Given the description of an element on the screen output the (x, y) to click on. 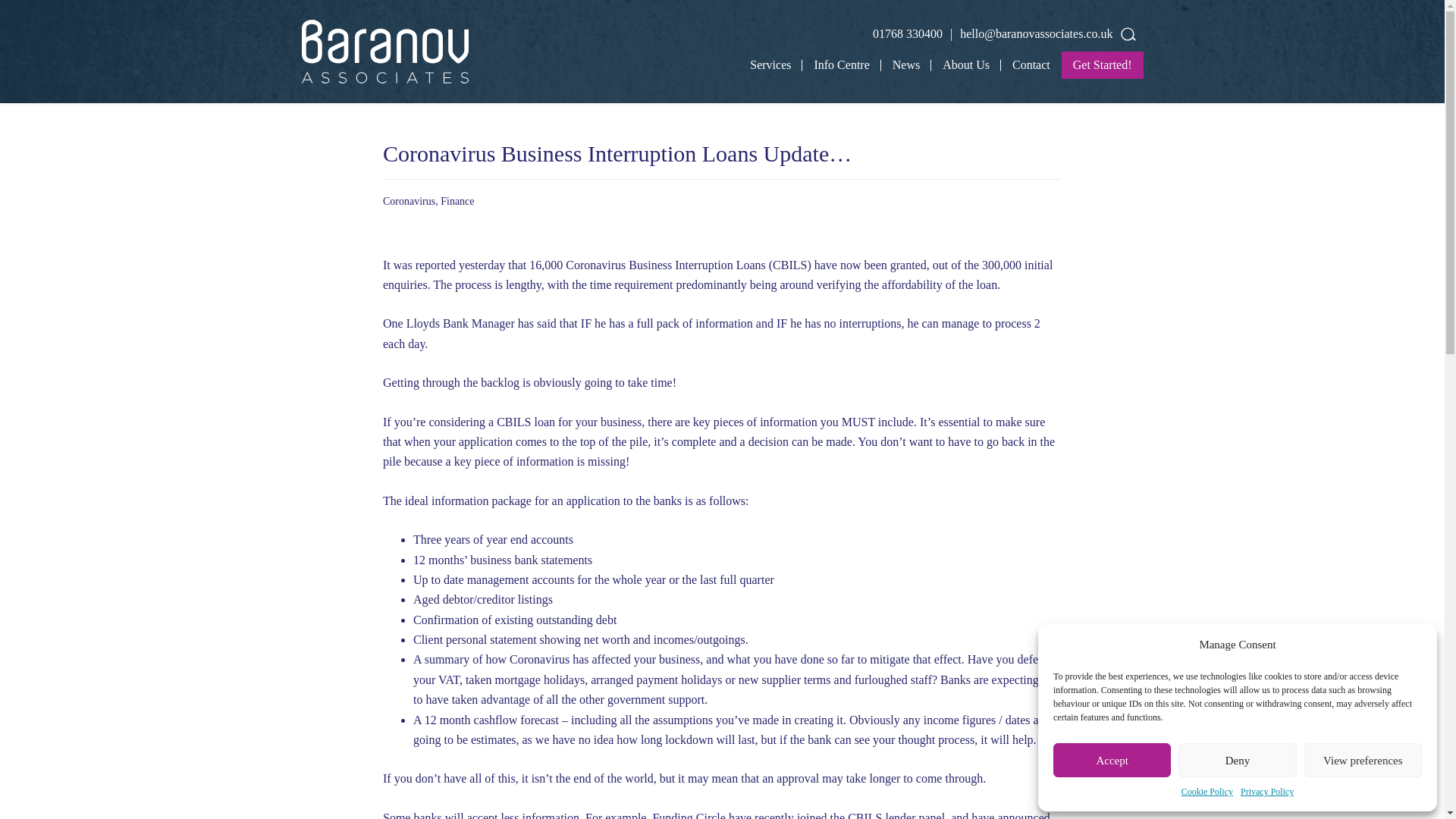
Deny (1236, 759)
View preferences (1363, 759)
Cookie Policy (1206, 792)
Accept (1111, 759)
Privacy Policy (1267, 792)
